Given the description of an element on the screen output the (x, y) to click on. 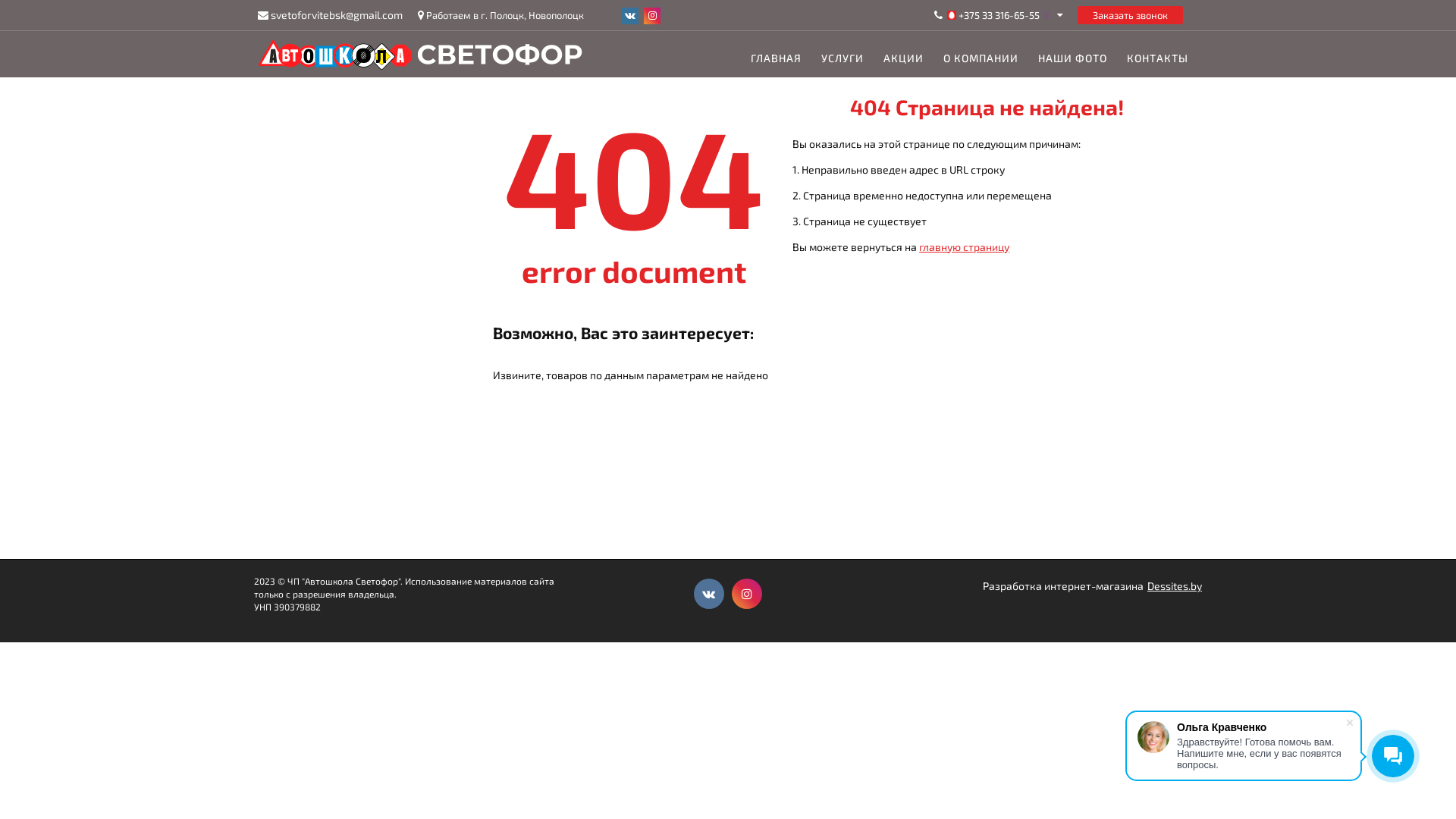
Dessites.by Element type: text (1174, 585)
svetoforvitebsk@gmail.com Element type: text (336, 14)
+375 33 316-65-55 Element type: text (998, 15)
